Given the description of an element on the screen output the (x, y) to click on. 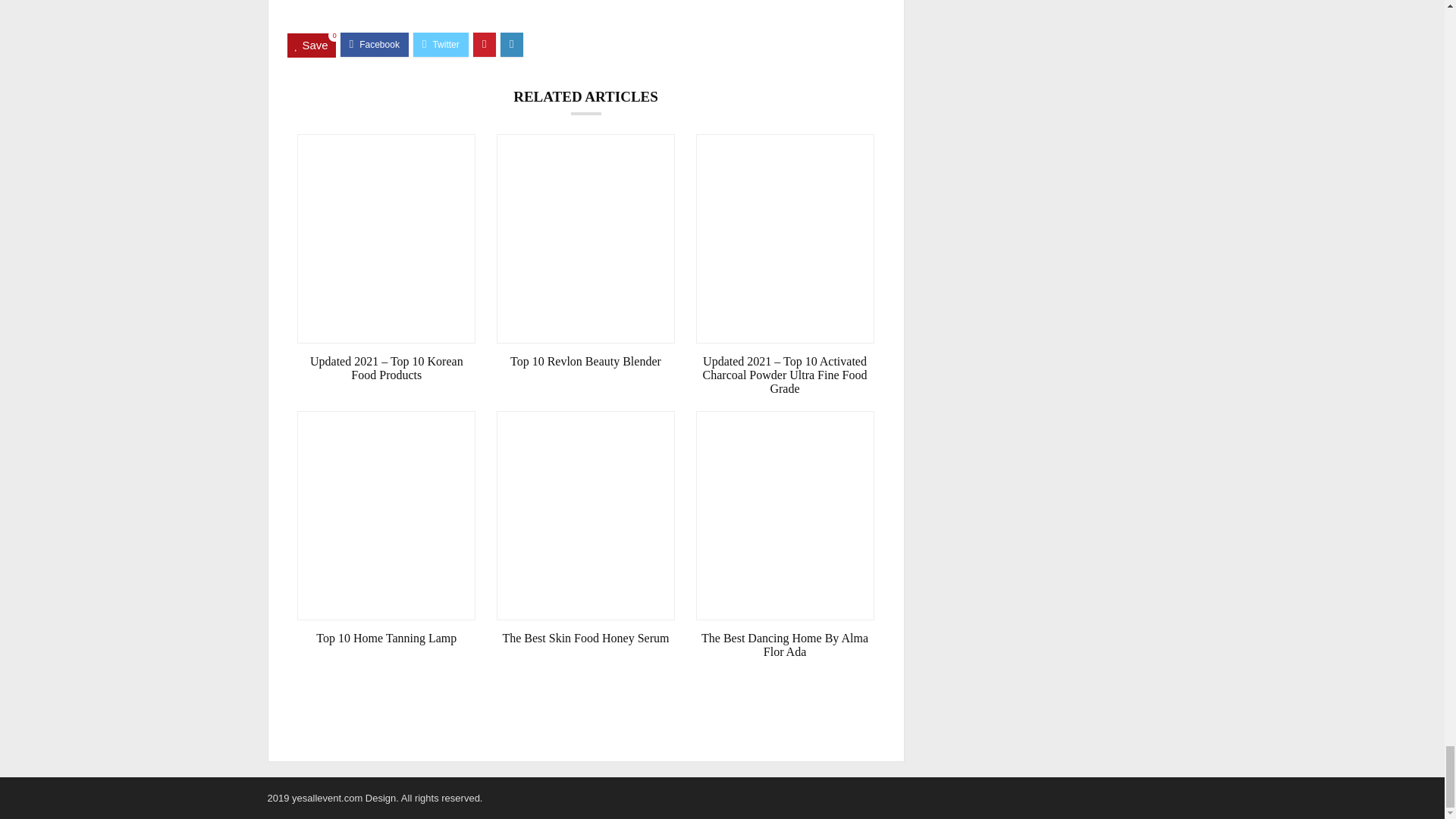
The Best Dancing Home By Alma Flor Ada (785, 645)
The Best Skin Food Honey Serum (585, 638)
Top 10 Home Tanning Lamp (386, 638)
Top 10 Revlon Beauty Blender (585, 361)
